Given the description of an element on the screen output the (x, y) to click on. 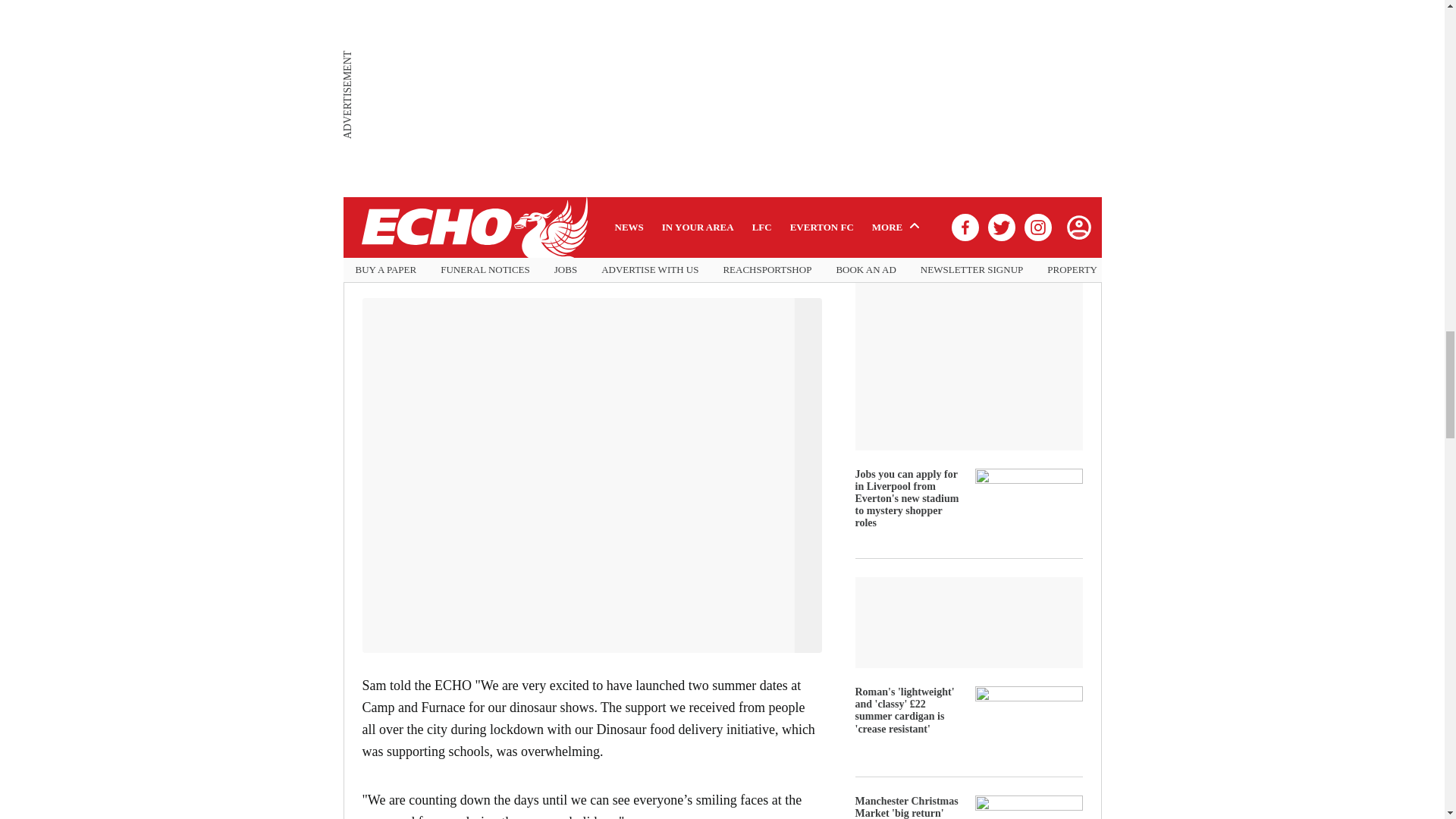
signing up here (405, 108)
